Given the description of an element on the screen output the (x, y) to click on. 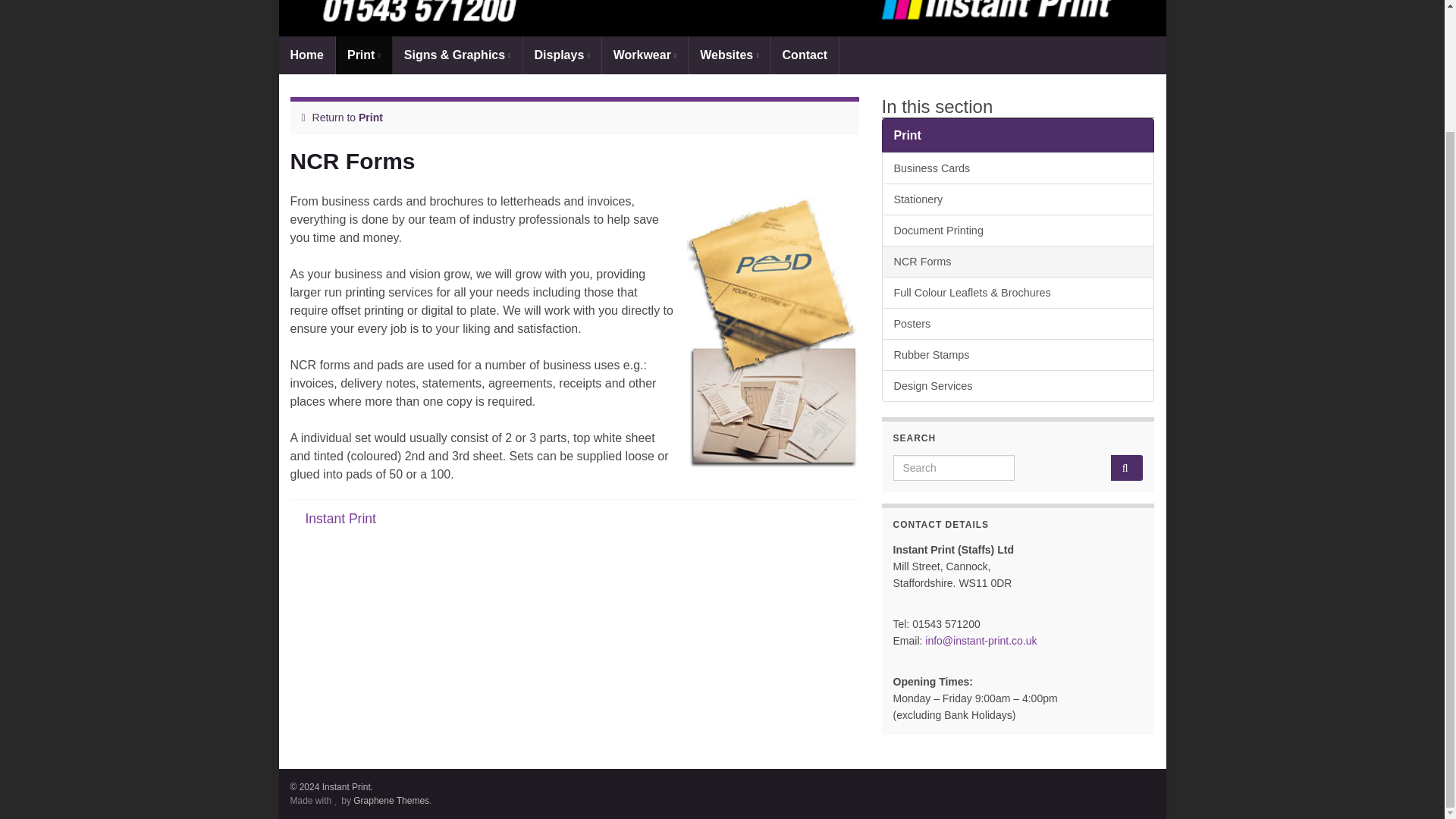
Workwear (645, 55)
Home (306, 55)
Contact (805, 55)
Displays (561, 55)
Print (363, 55)
Print (370, 117)
Instant Print (339, 518)
Websites (729, 55)
ip-header.jpg (722, 18)
